Given the description of an element on the screen output the (x, y) to click on. 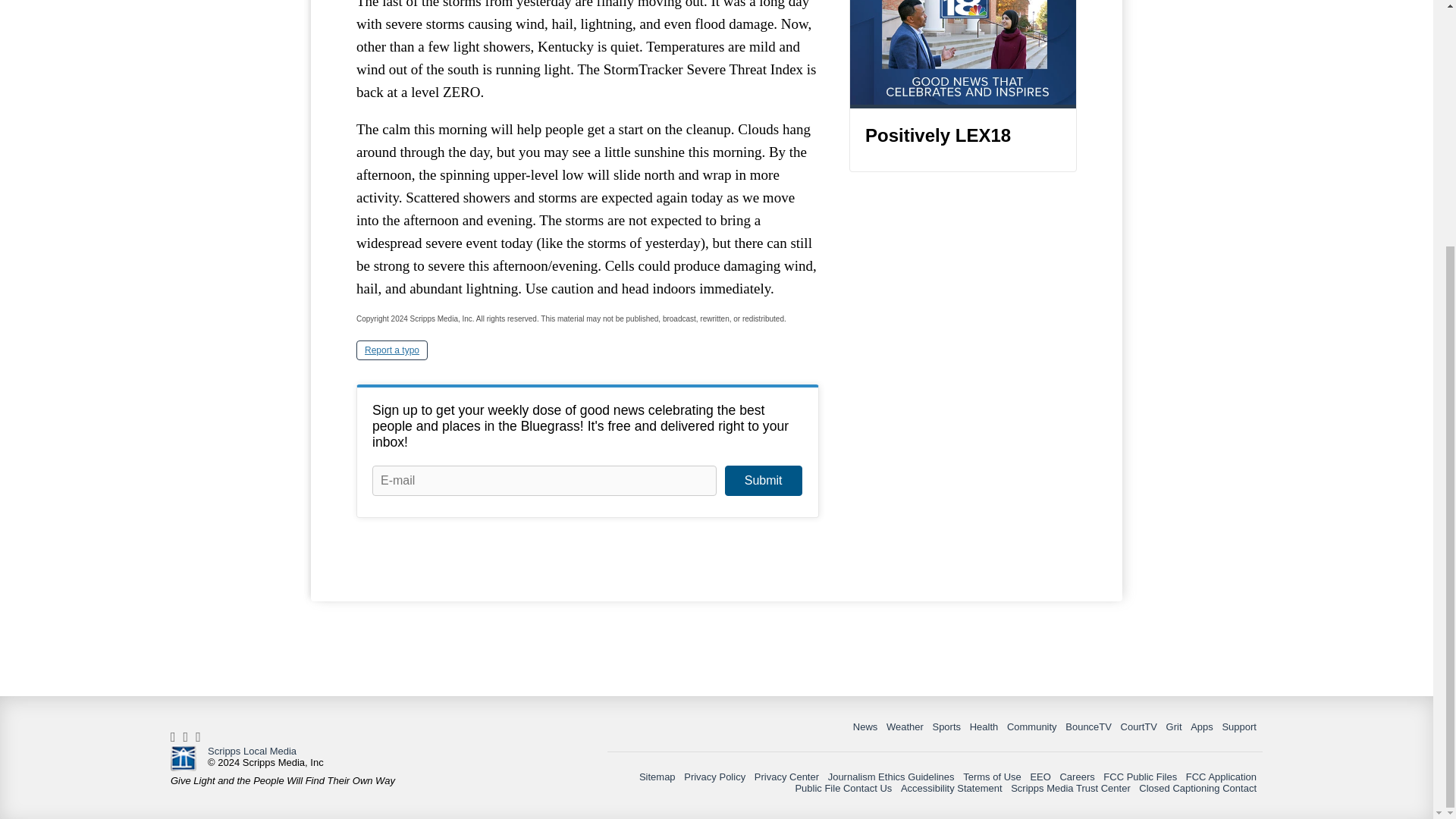
Submit (763, 481)
